Given the description of an element on the screen output the (x, y) to click on. 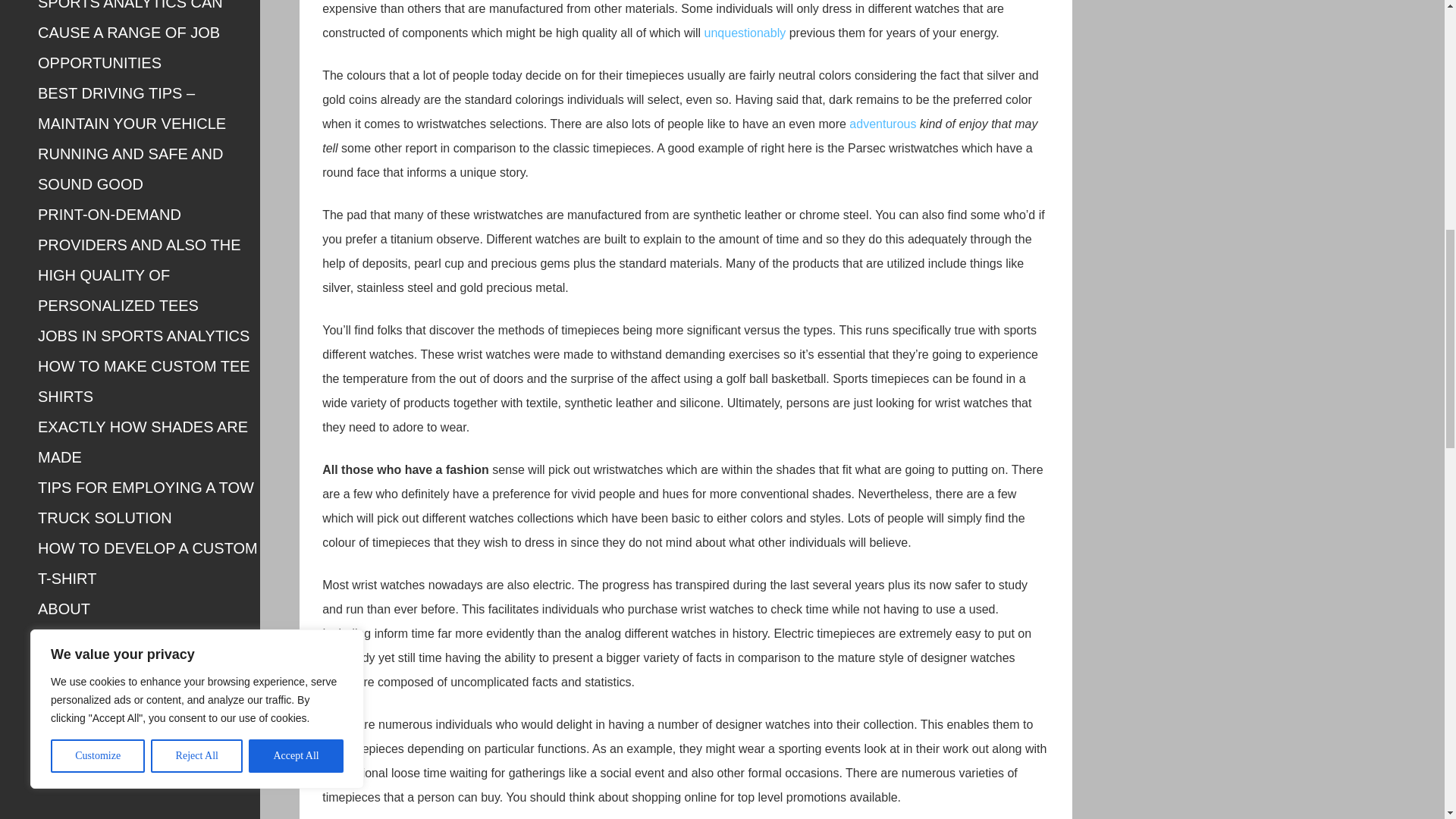
unquestionably (745, 32)
adventurous (881, 123)
